Given the description of an element on the screen output the (x, y) to click on. 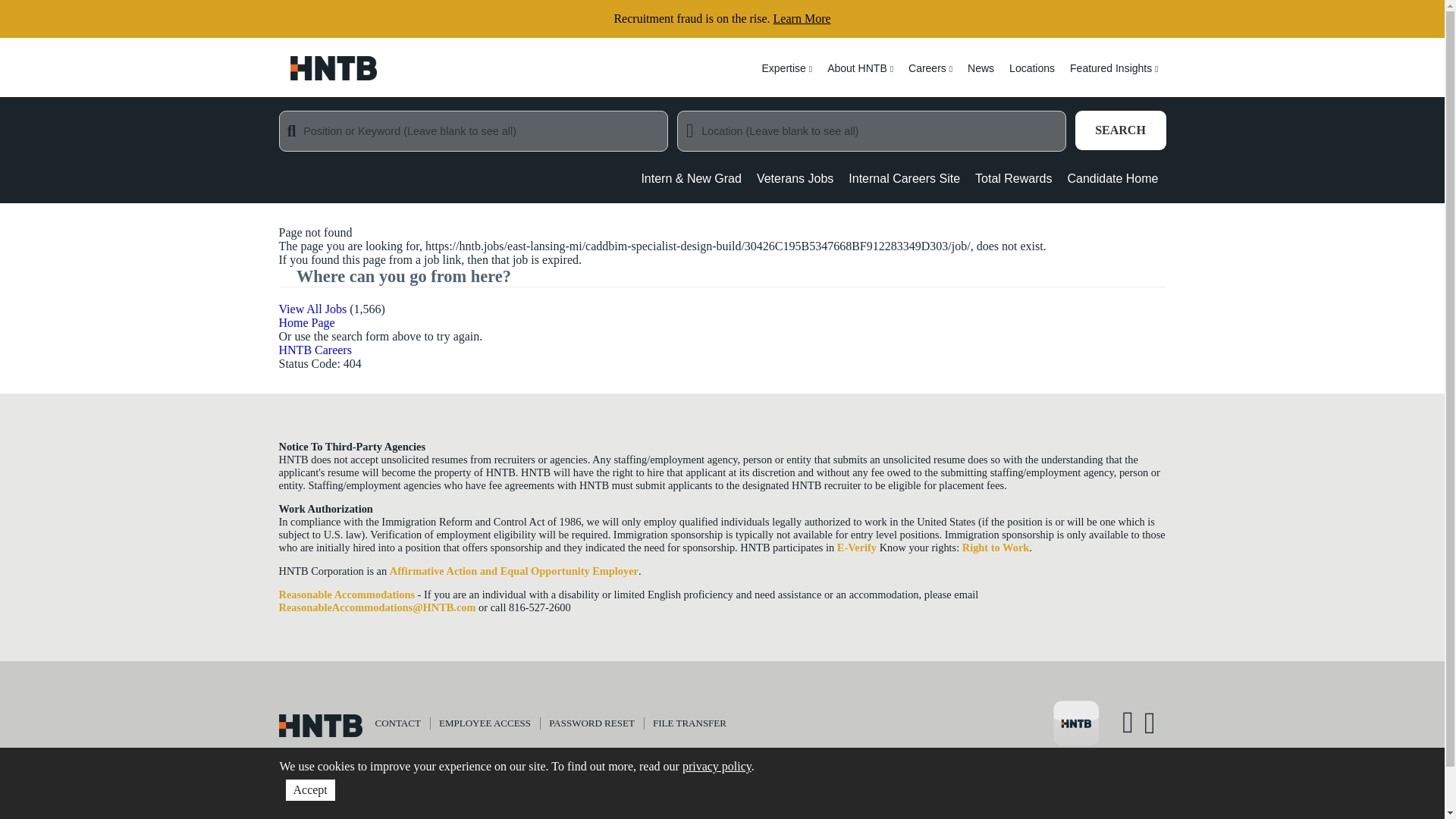
News (980, 77)
privacy policy (716, 766)
Careers (930, 77)
Accept (309, 789)
About HNTB (860, 77)
Featured Insights (1114, 77)
Learn More (802, 18)
Expertise (786, 77)
Locations (1031, 77)
